Given the description of an element on the screen output the (x, y) to click on. 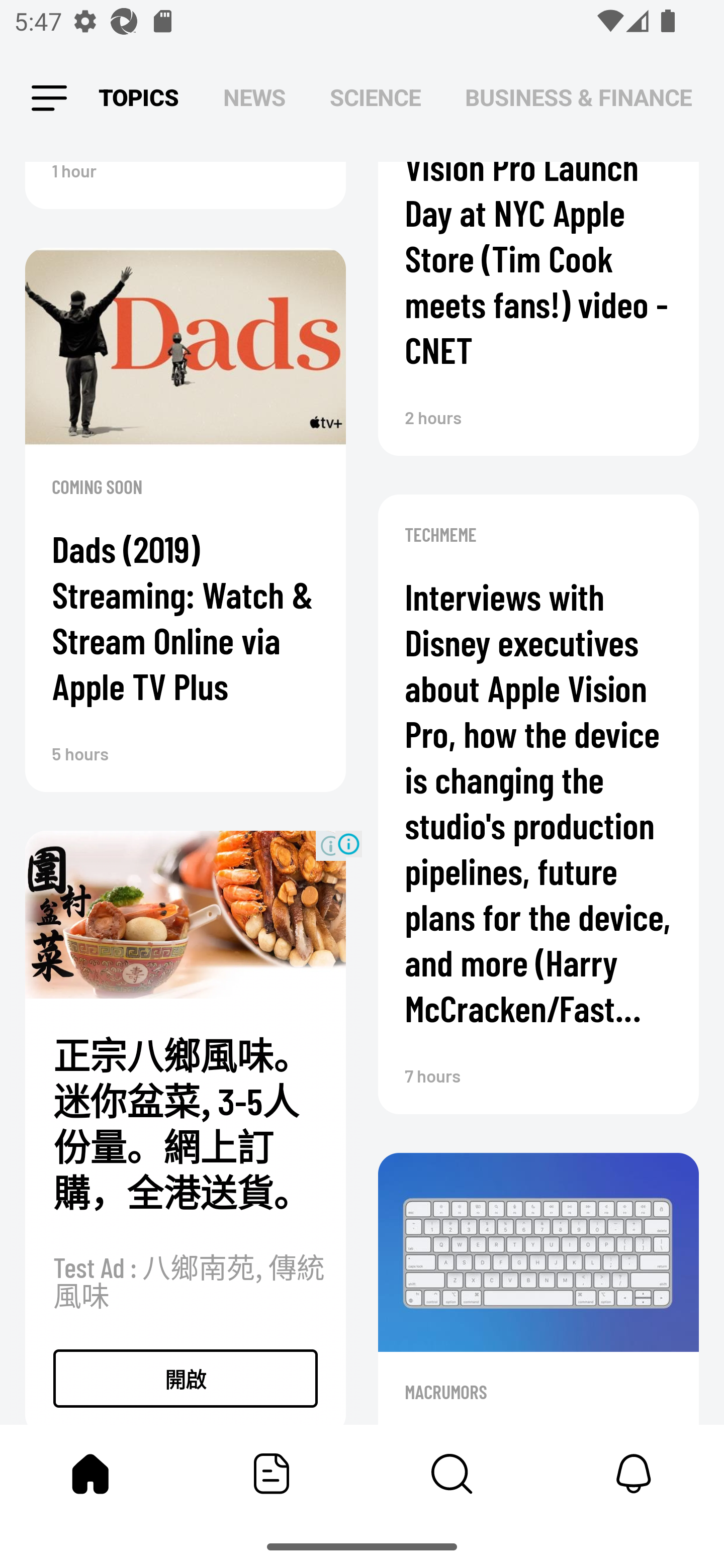
Leading Icon (49, 98)
NEWS (254, 97)
SCIENCE (375, 97)
BUSINESS & FINANCE (578, 97)
Ad Choices Icon (348, 844)
Featured (271, 1473)
Content Store (452, 1473)
Notifications (633, 1473)
